Given the description of an element on the screen output the (x, y) to click on. 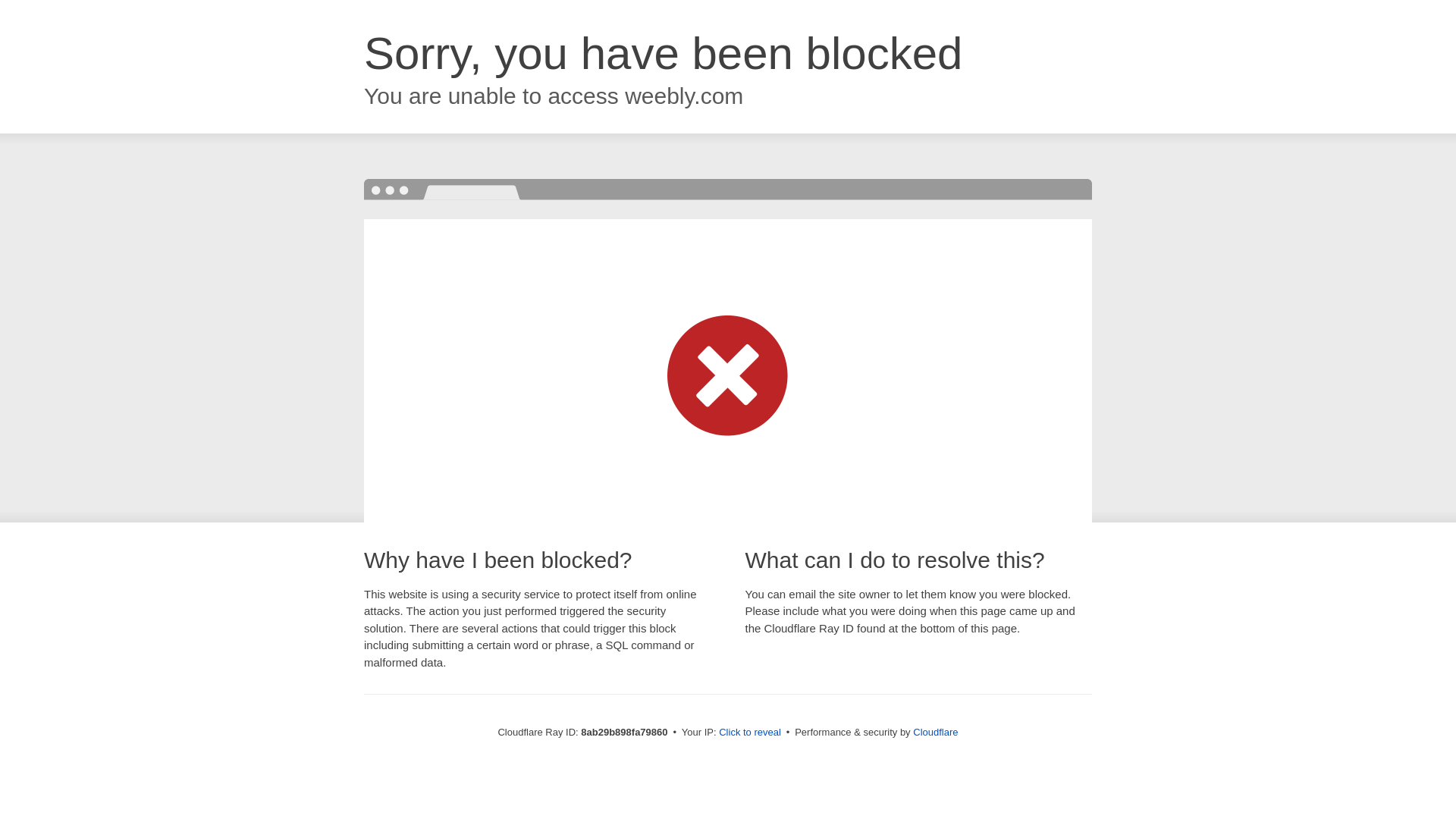
Click to reveal (749, 732)
Cloudflare (935, 731)
